Given the description of an element on the screen output the (x, y) to click on. 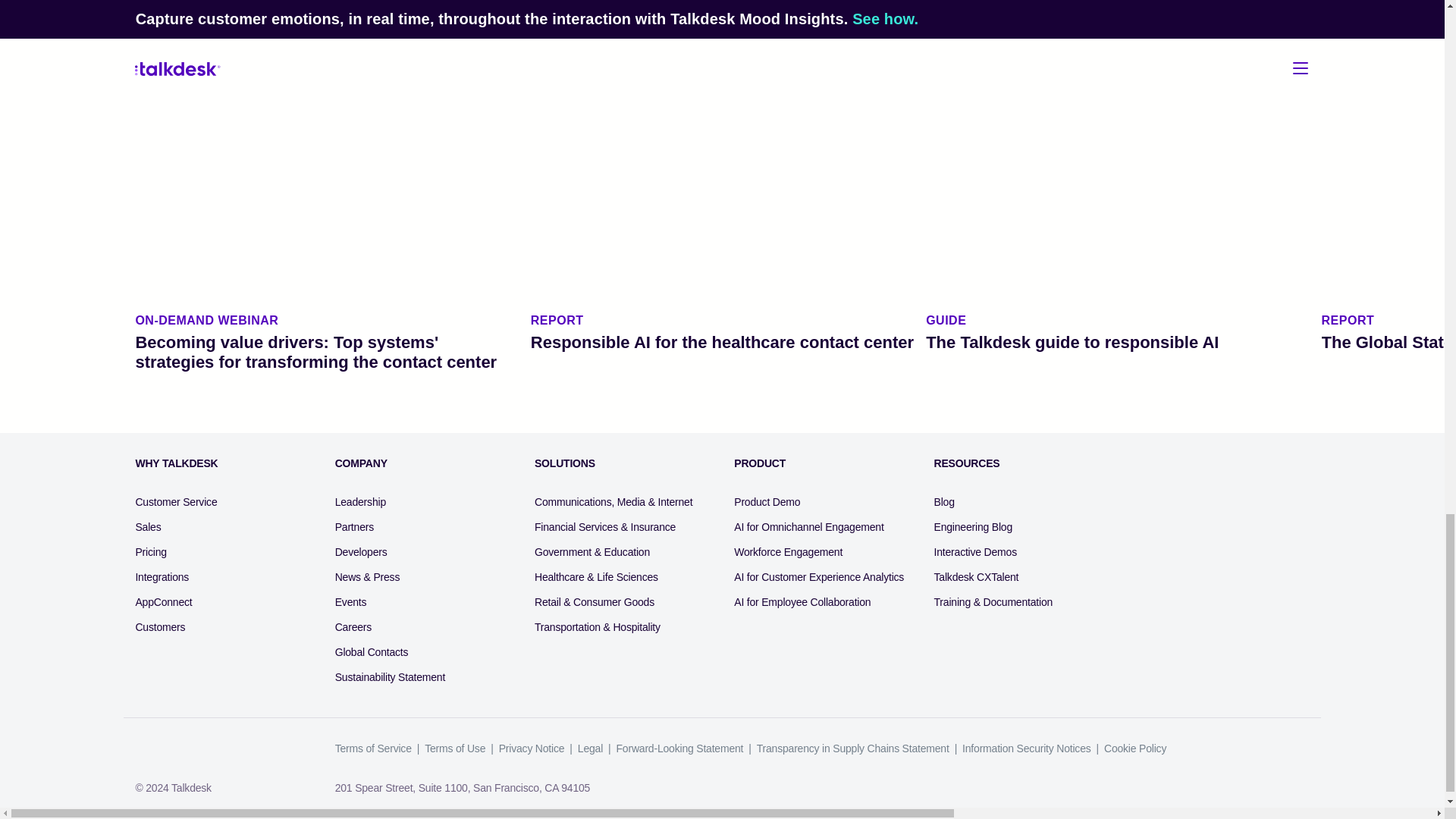
Customer Service (722, 332)
Sales (175, 502)
Events (147, 527)
Leadership (350, 602)
WHY TALKDESK (359, 502)
Careers (175, 463)
AppConnect (352, 627)
Customers (163, 602)
Partners (1117, 332)
Integrations (159, 627)
Guide (354, 527)
Developers (162, 577)
